Given the description of an element on the screen output the (x, y) to click on. 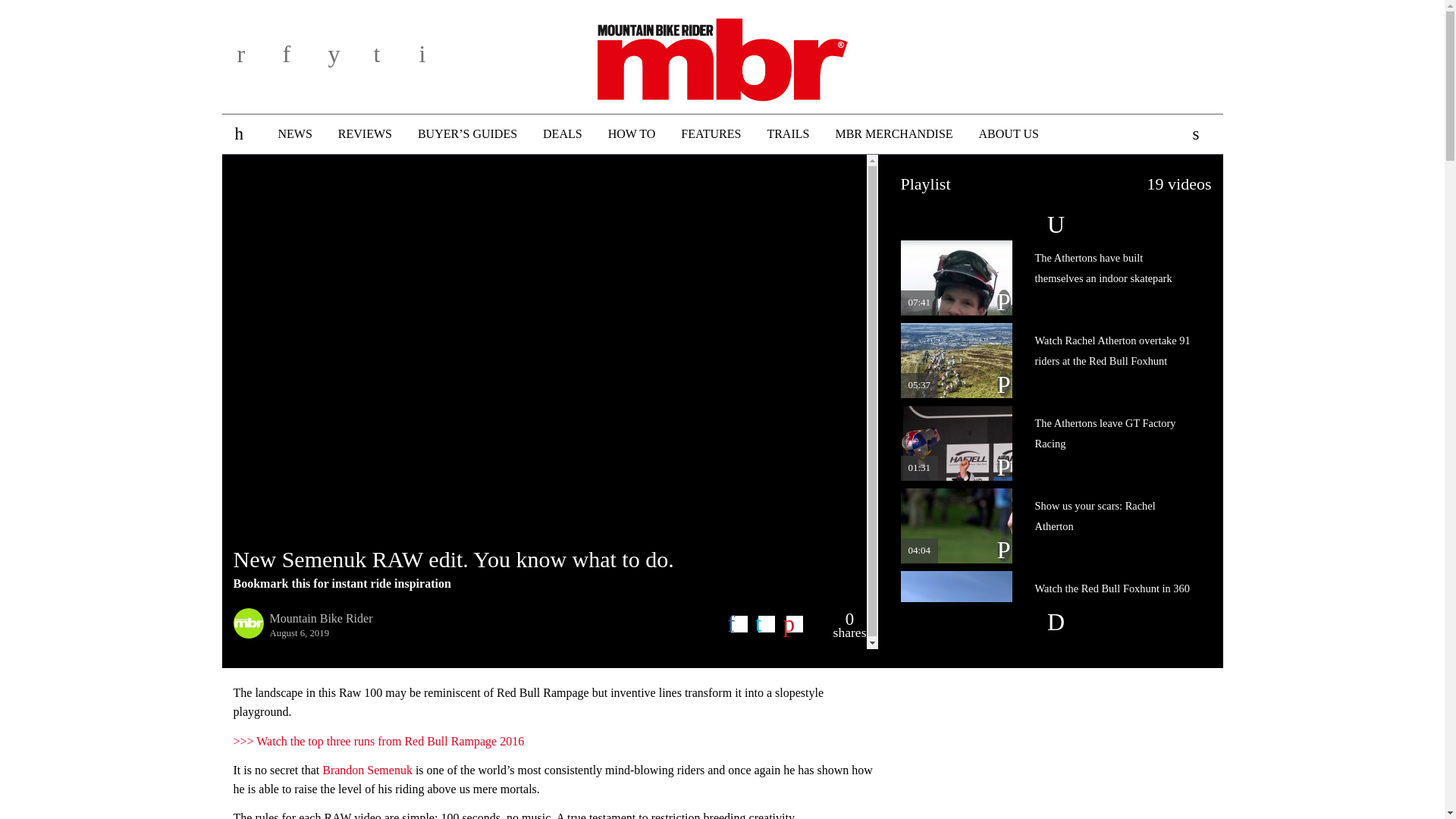
TRAILS (788, 133)
y (345, 59)
f (300, 59)
i (436, 59)
Mountain Bike Rider (320, 617)
Show us your scars: Rachel Atherton (1050, 525)
DEALS (562, 133)
MBR (721, 53)
t (390, 59)
HOW TO (631, 133)
MBR (721, 53)
The Athertons have built themselves an indoor skatepark (1050, 277)
MBR MERCHANDISE (893, 133)
The Athertons leave GT Factory Racing (1050, 442)
